Given the description of an element on the screen output the (x, y) to click on. 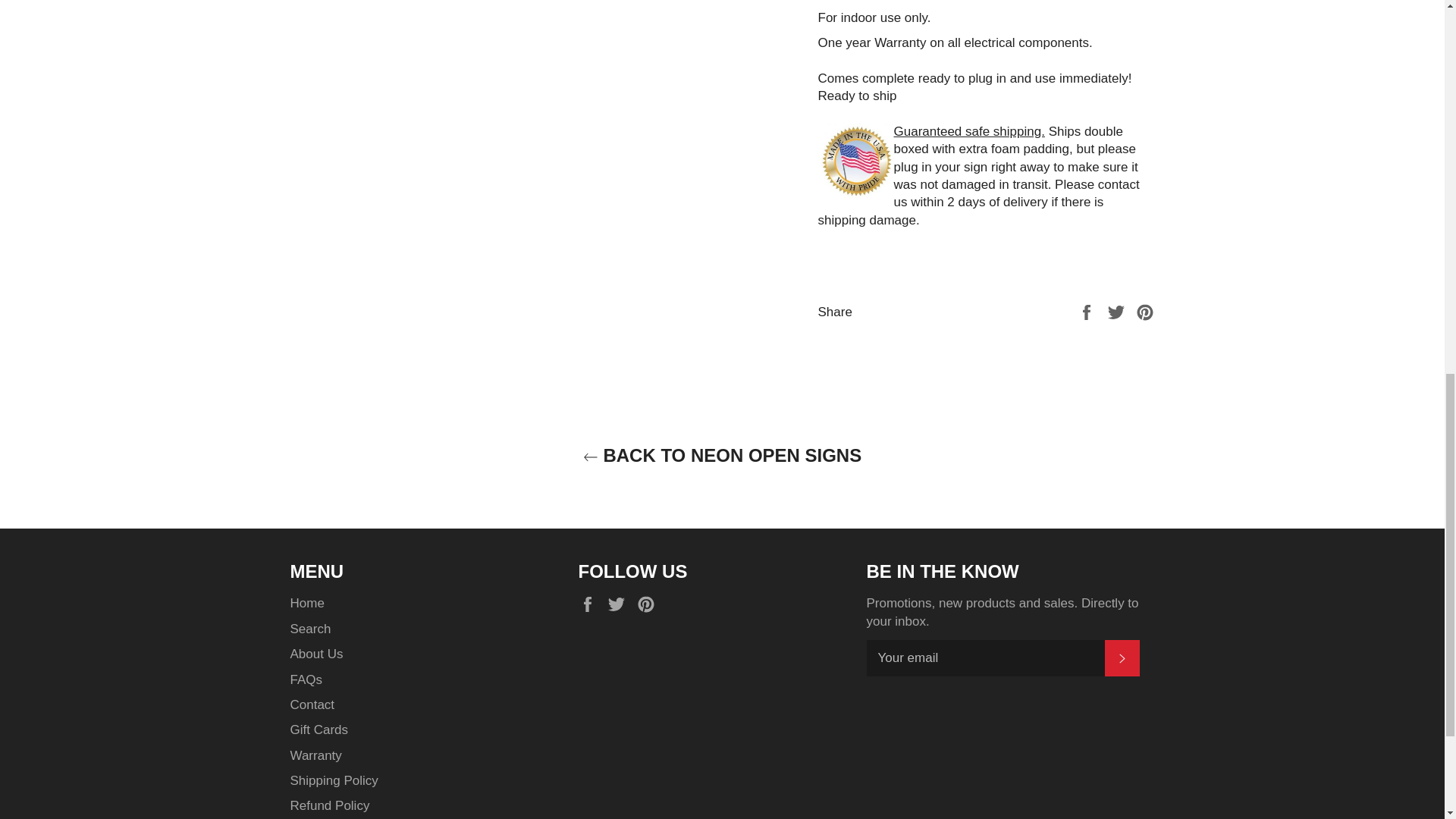
Fire House Neon Signs on Facebook (591, 603)
Pin on Pinterest (1144, 311)
Share on Facebook (1088, 311)
Fire House Neon Signs on Pinterest (649, 603)
Fire House Neon Signs on Twitter (620, 603)
Tweet on Twitter (1117, 311)
